Given the description of an element on the screen output the (x, y) to click on. 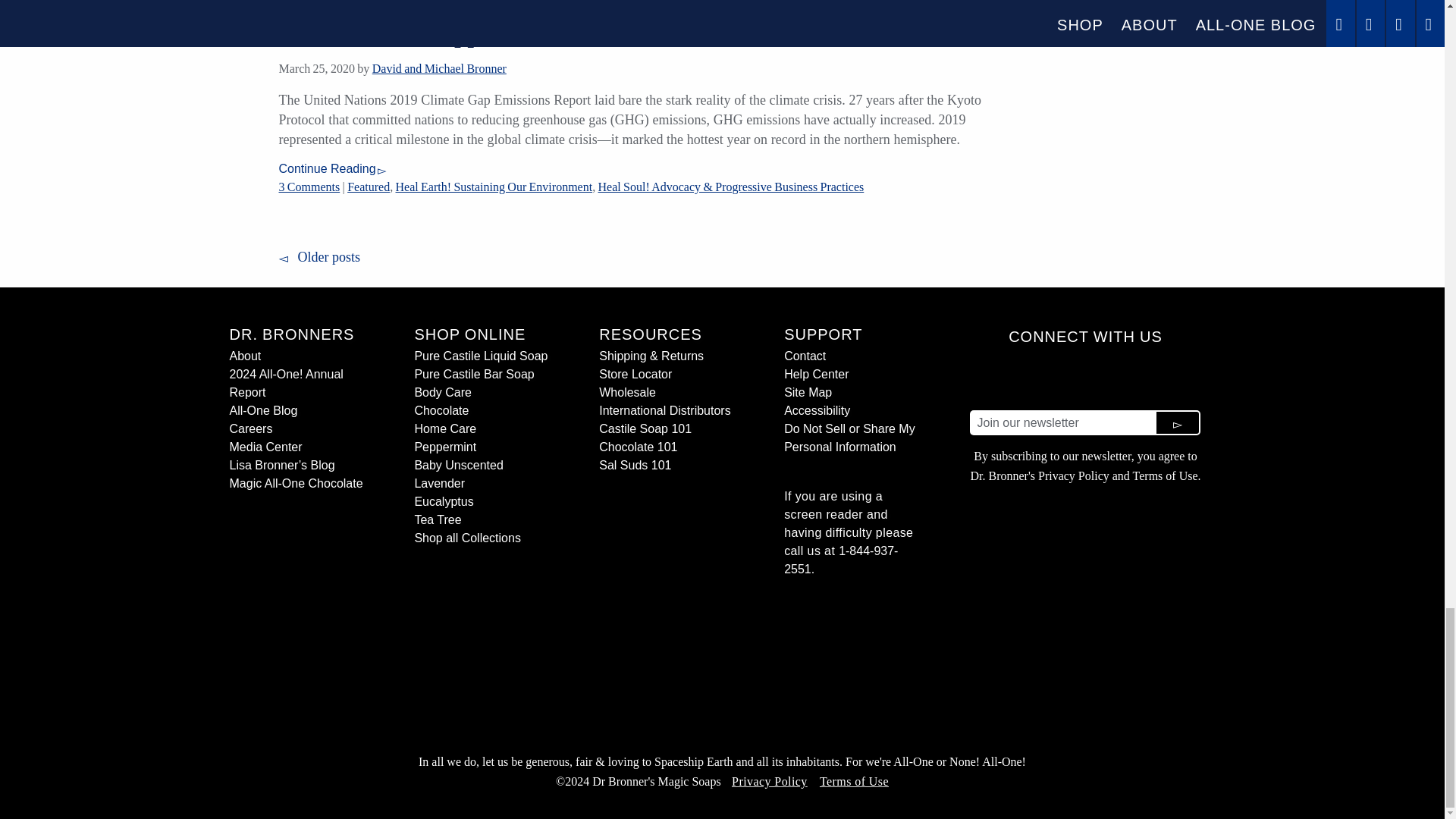
Dr. Bronner's on Twitter (1140, 376)
Dr. Bronner's on YouTube (1103, 376)
Dr. Bronner's on Pinterest (1176, 376)
Dr. Bronner's on Instagram (1029, 376)
Dr. Bronner's on LinkedIn (1067, 376)
Dr. Bronner's on Facebook (992, 376)
Posts by David and Michael Bronner (439, 68)
